Given the description of an element on the screen output the (x, y) to click on. 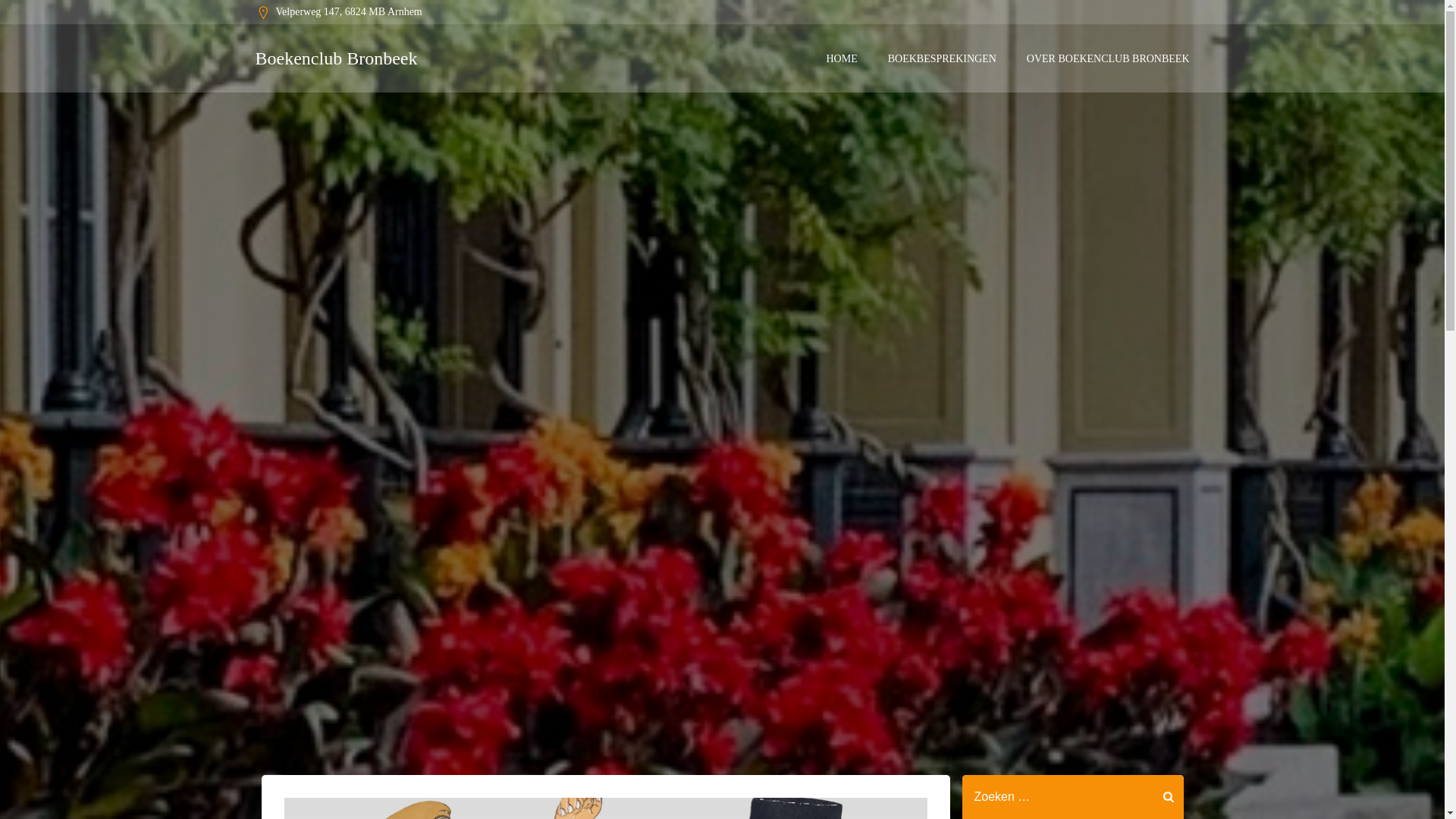
HOME (841, 57)
OVER BOEKENCLUB BRONBEEK (1107, 57)
Velperweg 147, 6824 MB Arnhem (338, 12)
BOEKBESPREKINGEN (941, 57)
Boekenclub Bronbeek (335, 58)
Zoeken  (31, 22)
